Given the description of an element on the screen output the (x, y) to click on. 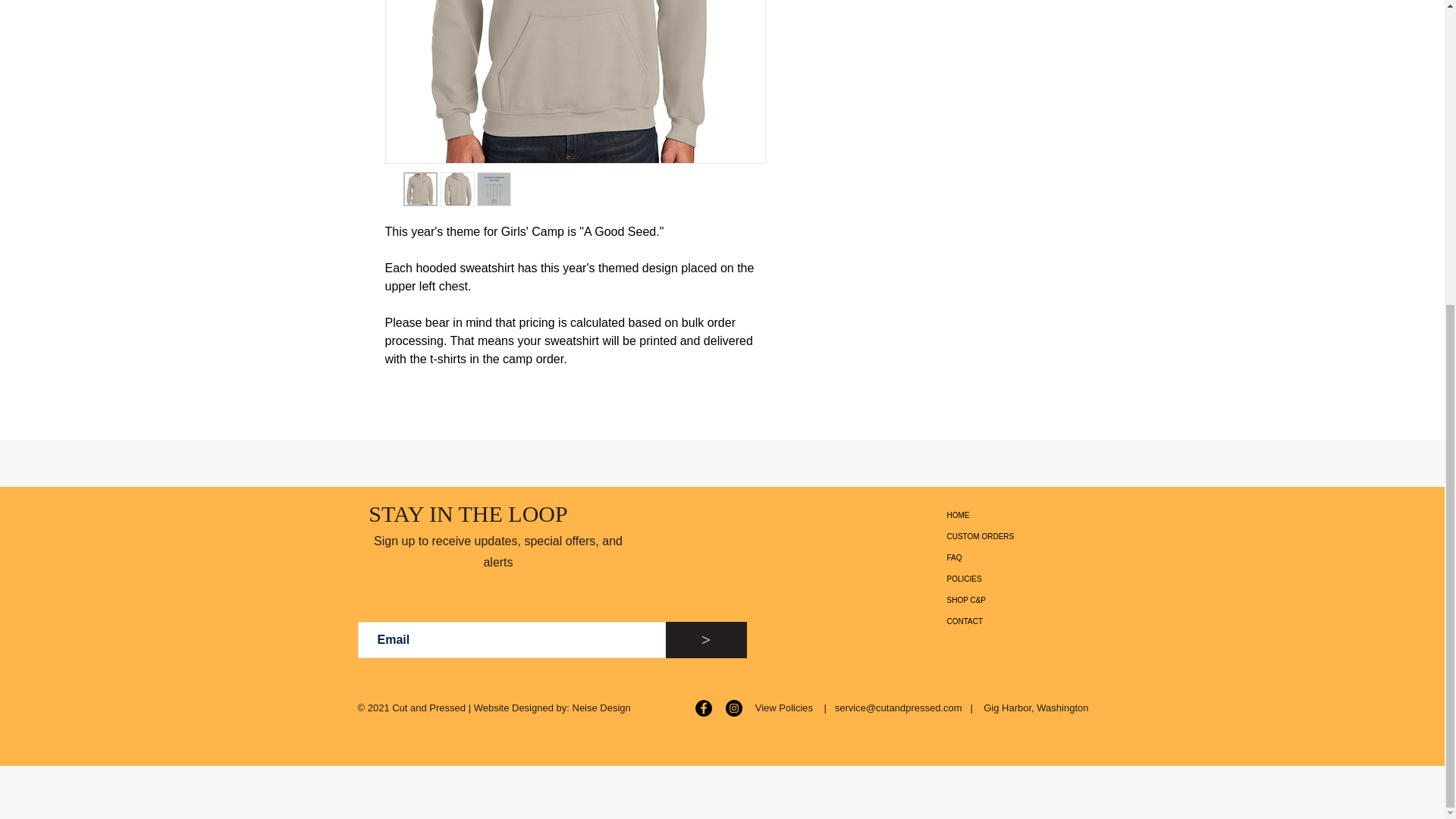
POLICIES (999, 578)
HOME (999, 515)
CONTACT (999, 621)
View Policies (783, 707)
CUSTOM ORDERS (999, 536)
FAQ (999, 557)
Neise Design (601, 707)
